Given the description of an element on the screen output the (x, y) to click on. 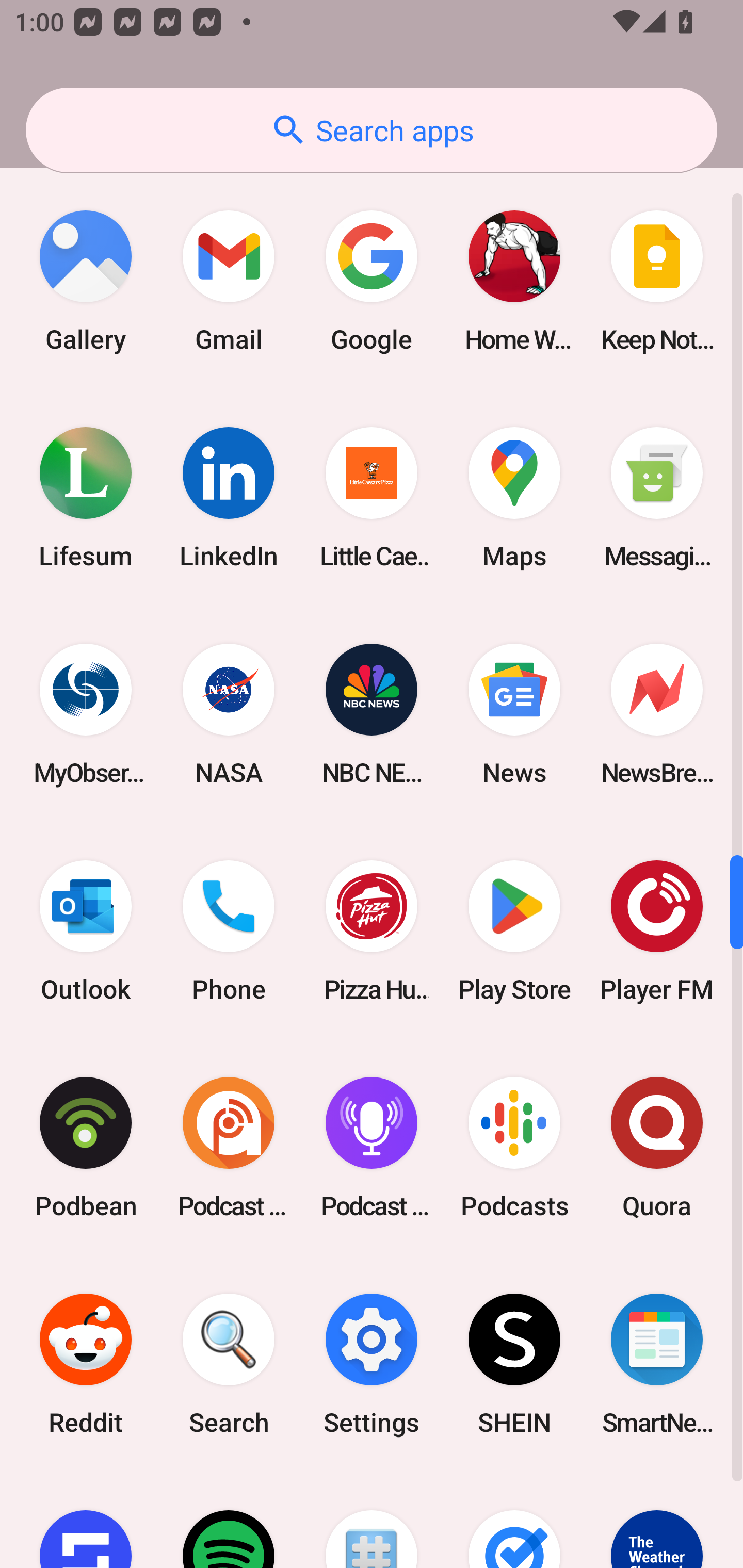
  Search apps (371, 130)
Gallery (85, 280)
Gmail (228, 280)
Google (371, 280)
Home Workout (514, 280)
Keep Notes (656, 280)
Lifesum (85, 497)
LinkedIn (228, 497)
Little Caesars Pizza (371, 497)
Maps (514, 497)
Messaging (656, 497)
MyObservatory (85, 714)
NASA (228, 714)
NBC NEWS (371, 714)
News (514, 714)
NewsBreak (656, 714)
Outlook (85, 931)
Phone (228, 931)
Pizza Hut HK & Macau (371, 931)
Play Store (514, 931)
Player FM (656, 931)
Podbean (85, 1147)
Podcast Addict (228, 1147)
Podcast Player (371, 1147)
Podcasts (514, 1147)
Quora (656, 1147)
Reddit (85, 1363)
Search (228, 1363)
Settings (371, 1363)
SHEIN (514, 1363)
SmartNews (656, 1363)
Sofascore (85, 1520)
Spotify (228, 1520)
Superuser (371, 1520)
Tasks (514, 1520)
The Weather Channel (656, 1520)
